Given the description of an element on the screen output the (x, y) to click on. 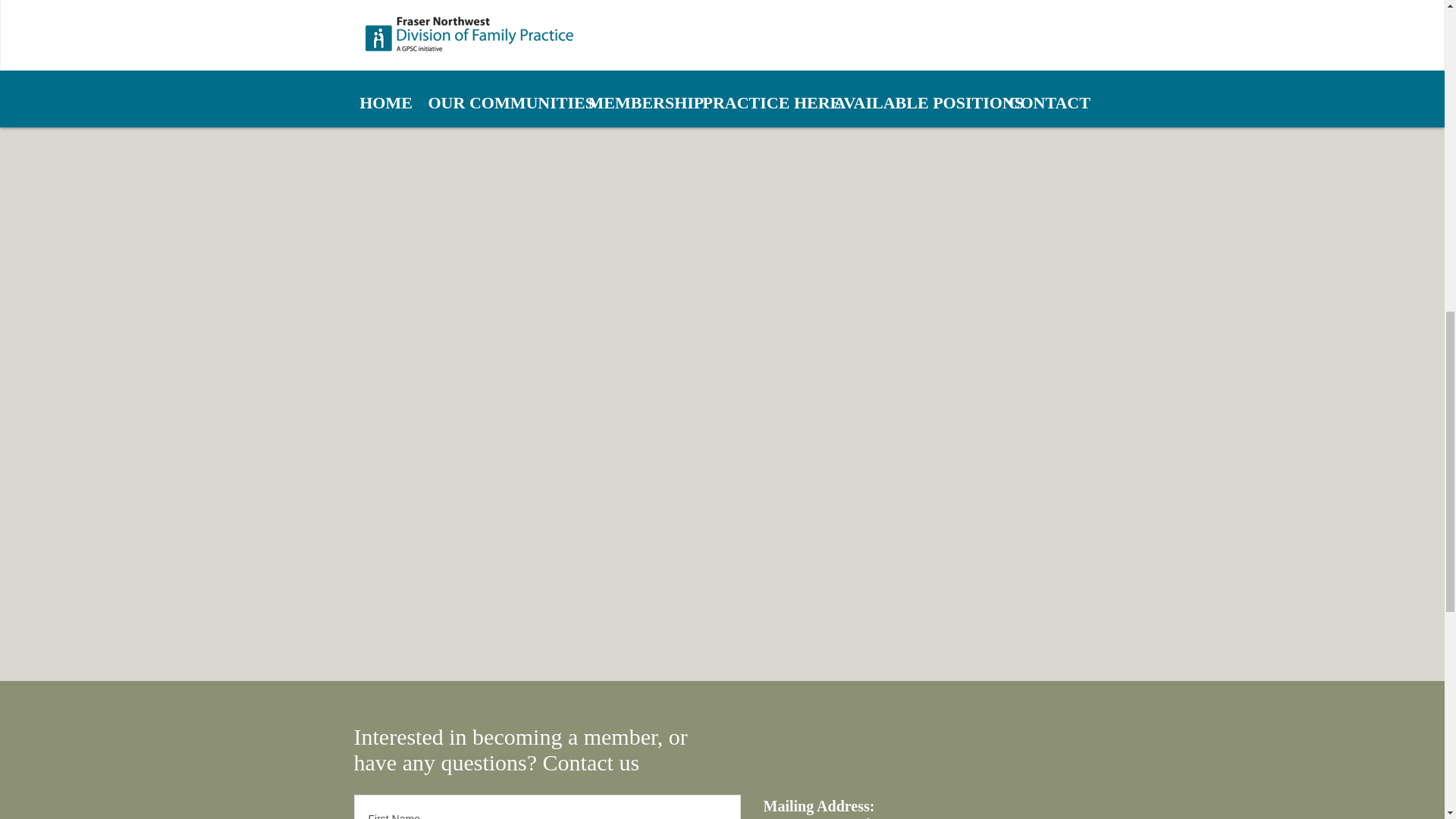
Apply Now (418, 66)
